Given the description of an element on the screen output the (x, y) to click on. 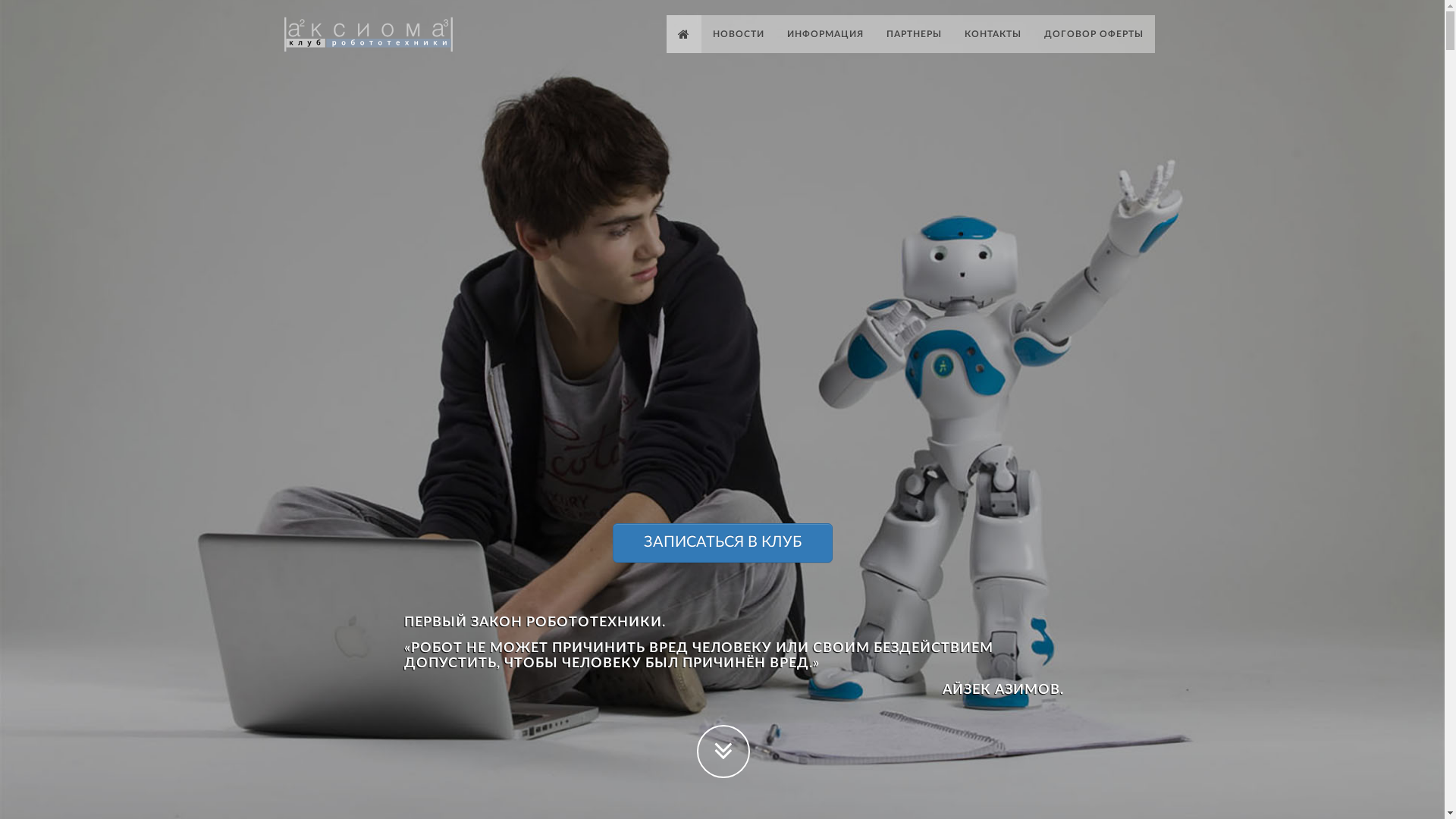
  Element type: text (382, 33)
